Given the description of an element on the screen output the (x, y) to click on. 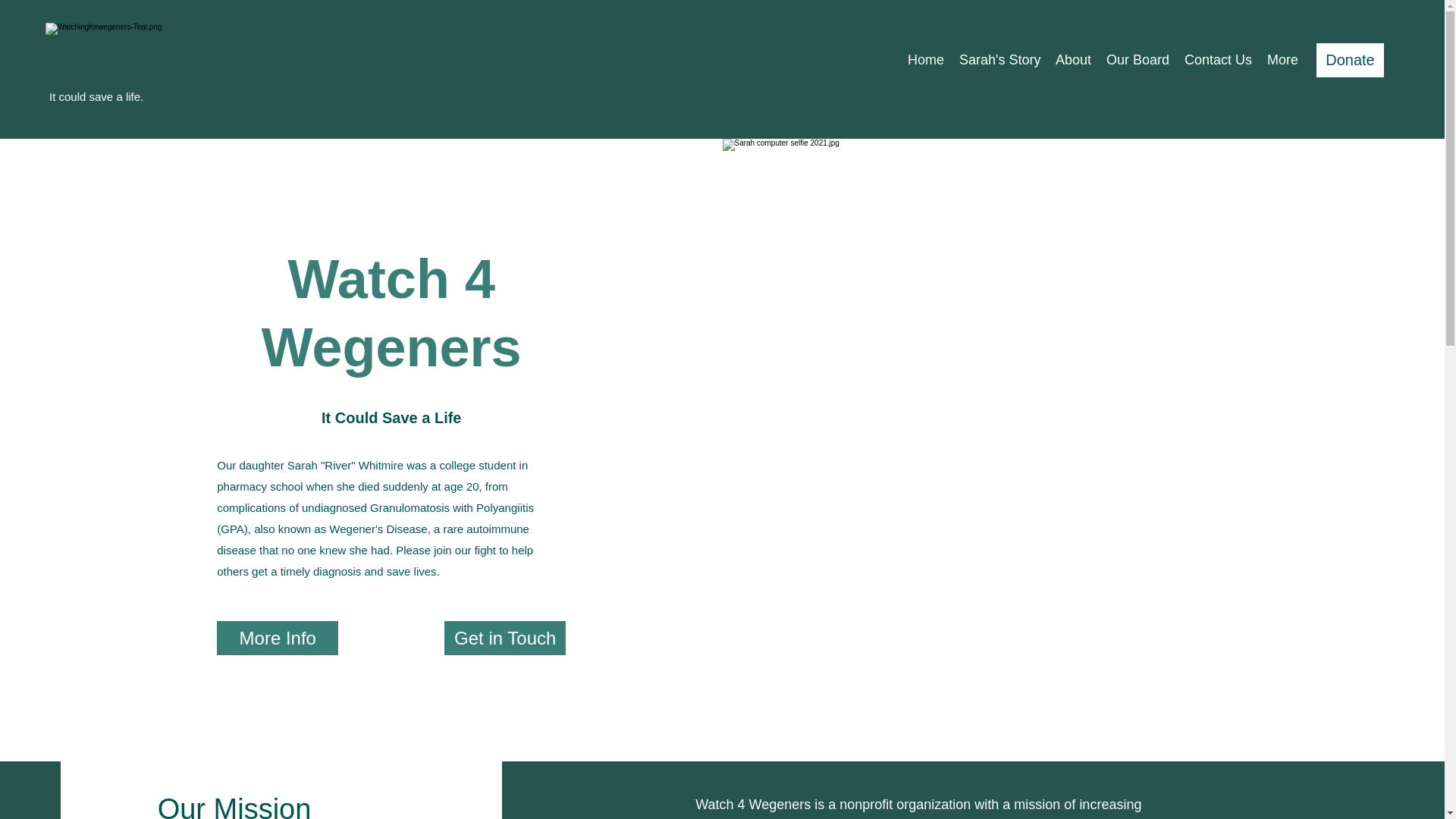
Our Board (1137, 59)
About (1073, 59)
Contact Us (1217, 59)
Home (925, 59)
More Info (276, 637)
Donate (1350, 59)
Get in Touch (505, 637)
Sarah's Story (1000, 59)
